Given the description of an element on the screen output the (x, y) to click on. 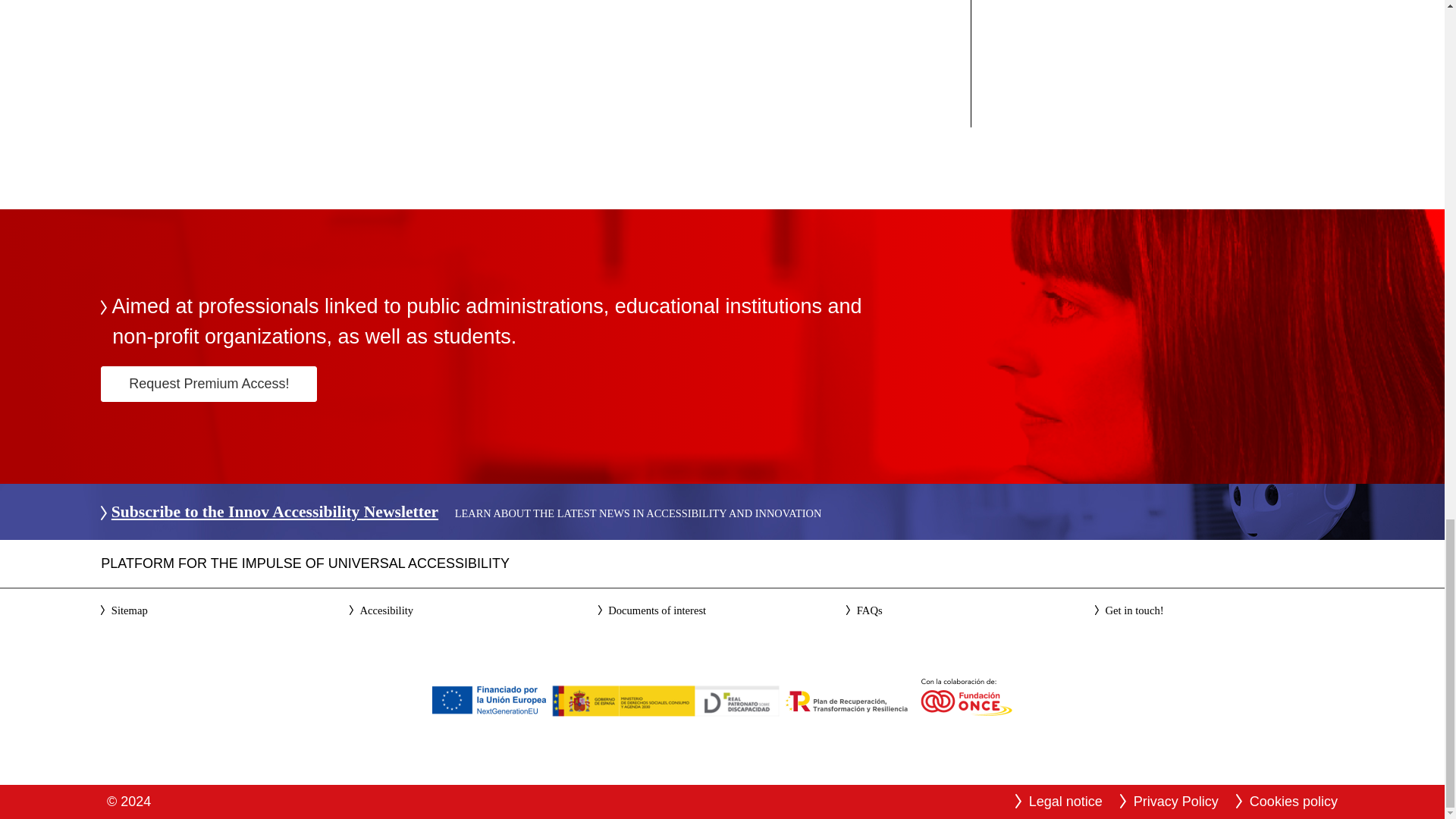
Cookies policy (1293, 801)
Sitemap (130, 610)
Accesibility (386, 610)
FAQs (869, 610)
Legal notice (1065, 801)
Subscribe to the Innov Accessibility Newsletter (275, 511)
Privacy Policy (1176, 801)
Documents of interest (657, 610)
Request Premium Access! (208, 384)
Get in touch! (1134, 610)
